Given the description of an element on the screen output the (x, y) to click on. 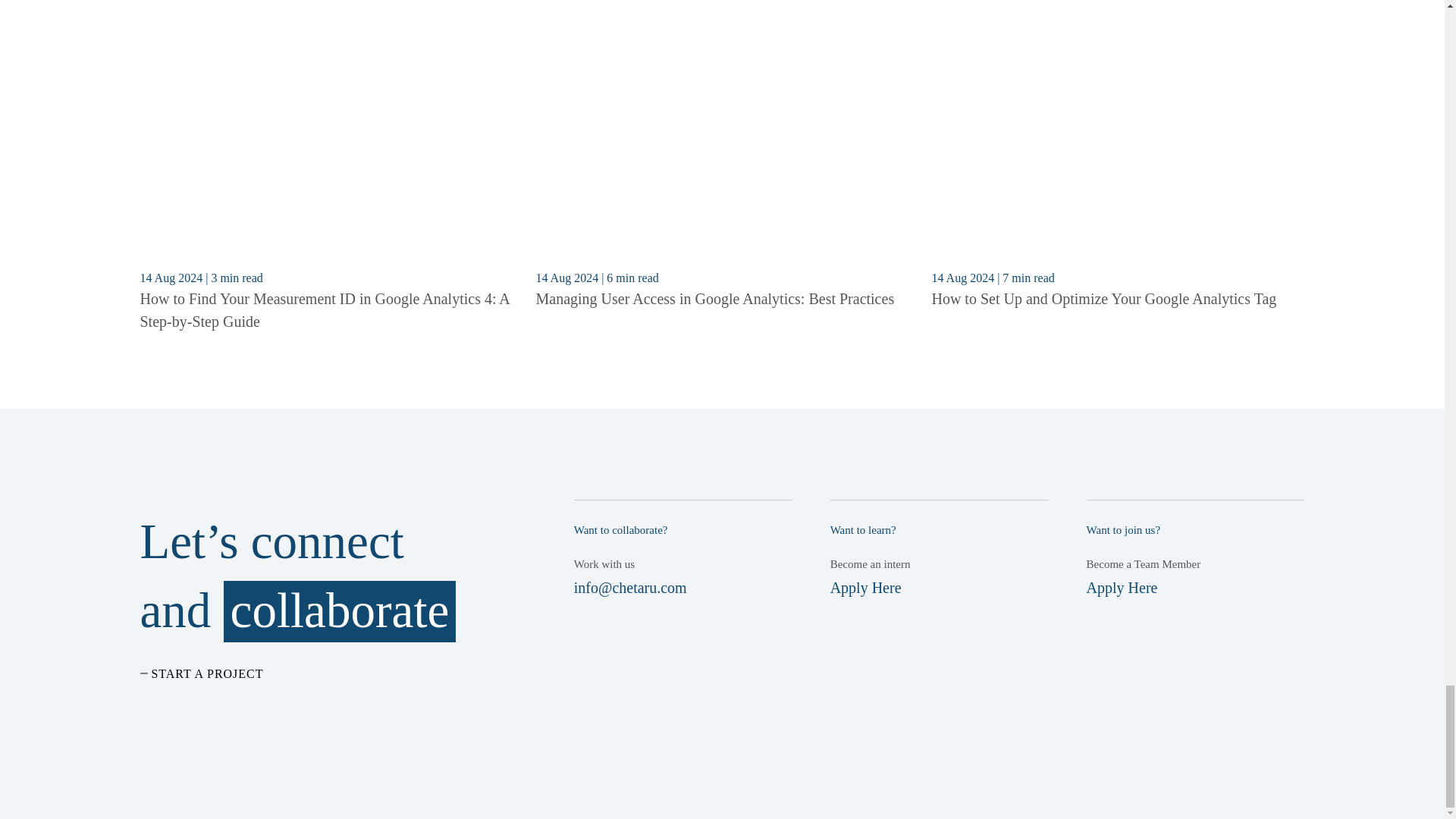
START A PROJECT (201, 673)
Managing User Access in Google Analytics: Best Practices (714, 298)
How to Set Up and Optimize Your Google Analytics Tag (1103, 298)
